Given the description of an element on the screen output the (x, y) to click on. 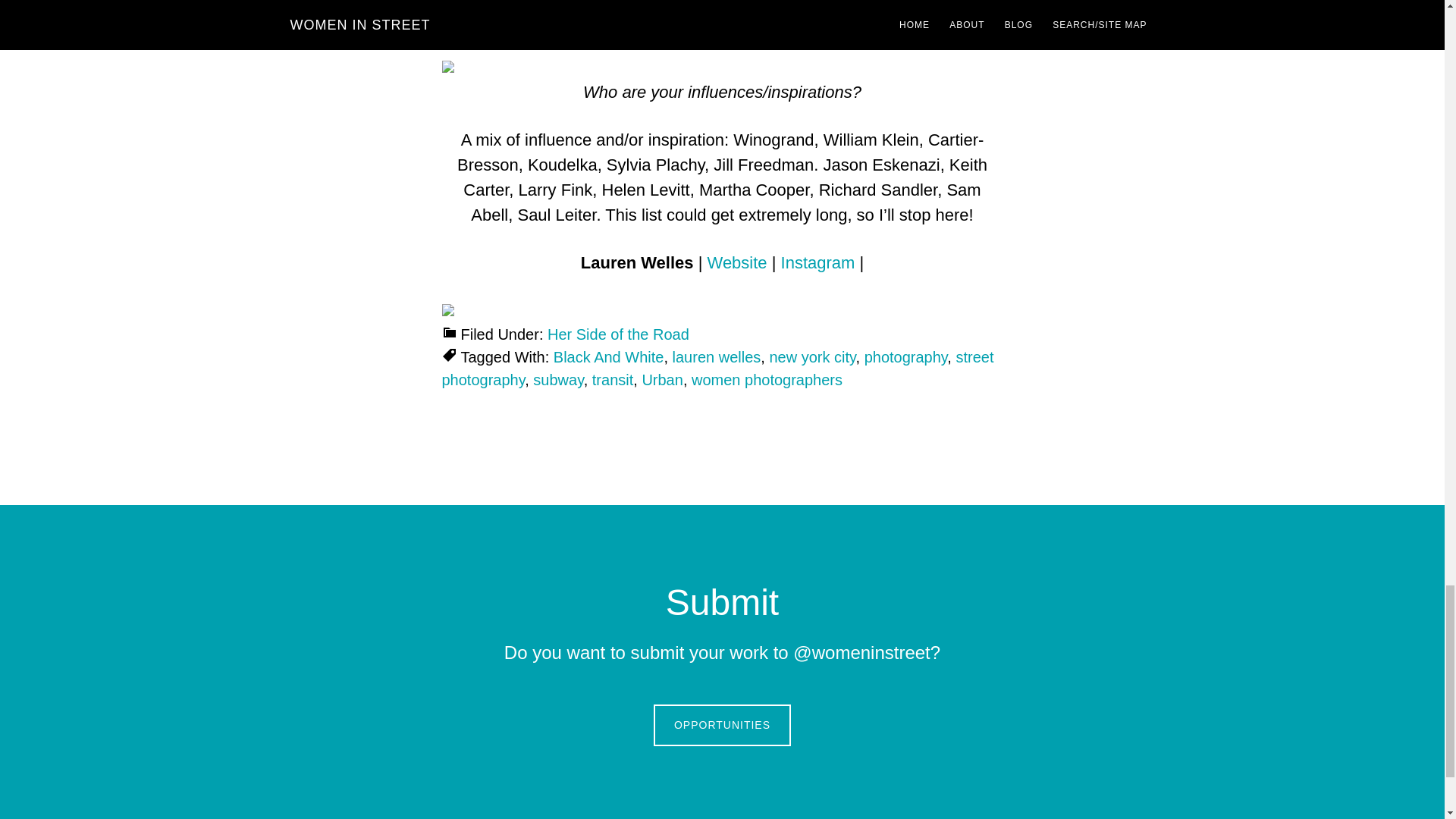
Urban (662, 379)
Website (737, 262)
Black And White (608, 356)
lauren welles (716, 356)
photography (905, 356)
women photographers (767, 379)
subway (557, 379)
new york city (812, 356)
street photography (716, 368)
Instagram (818, 262)
OPPORTUNITIES (721, 725)
Her Side of the Road (617, 334)
transit (612, 379)
